Given the description of an element on the screen output the (x, y) to click on. 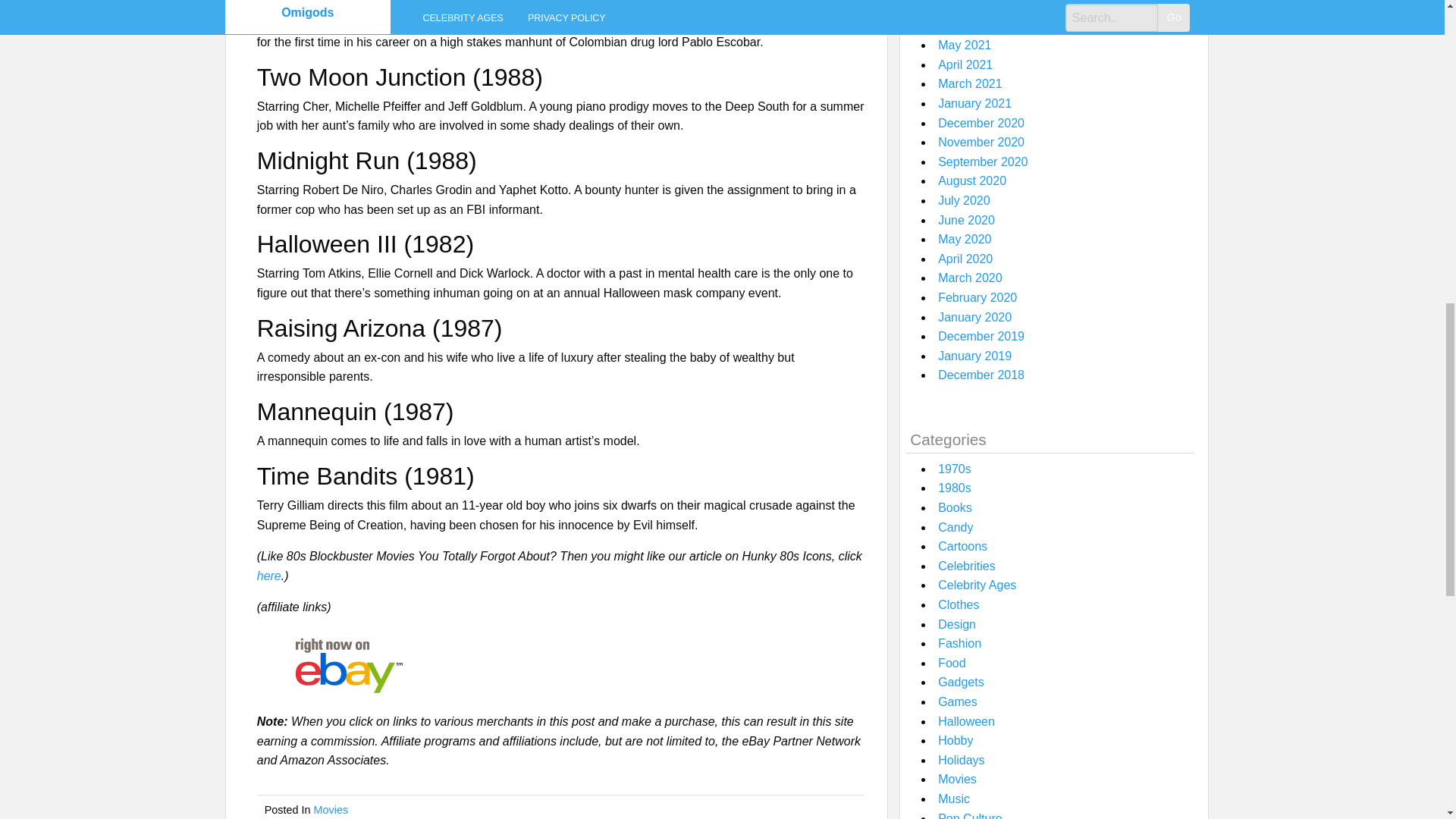
here (269, 575)
Movies (331, 809)
Nick Nolte (330, 21)
